Given the description of an element on the screen output the (x, y) to click on. 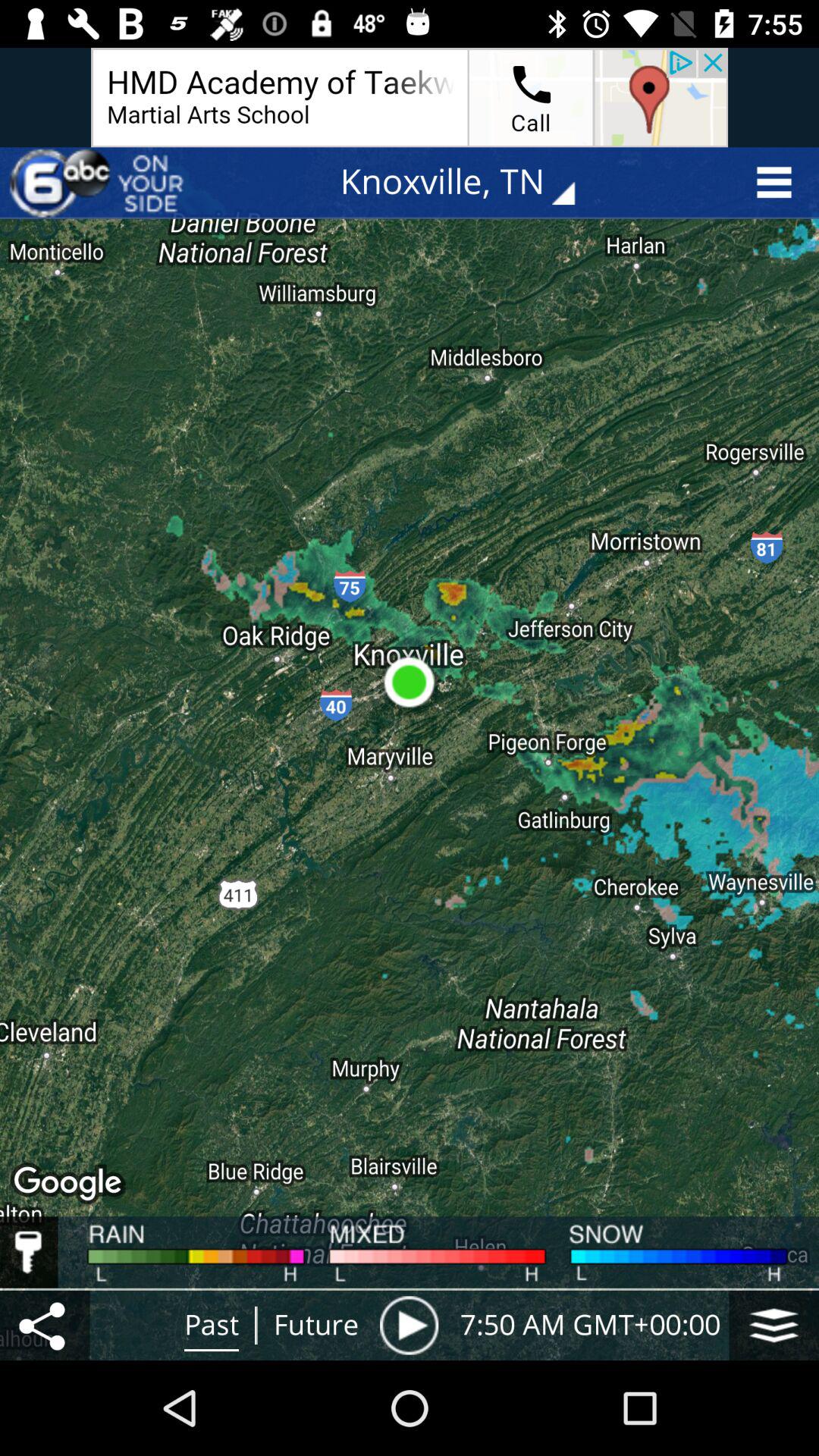
turn off item next to knoxville, tn item (99, 182)
